Given the description of an element on the screen output the (x, y) to click on. 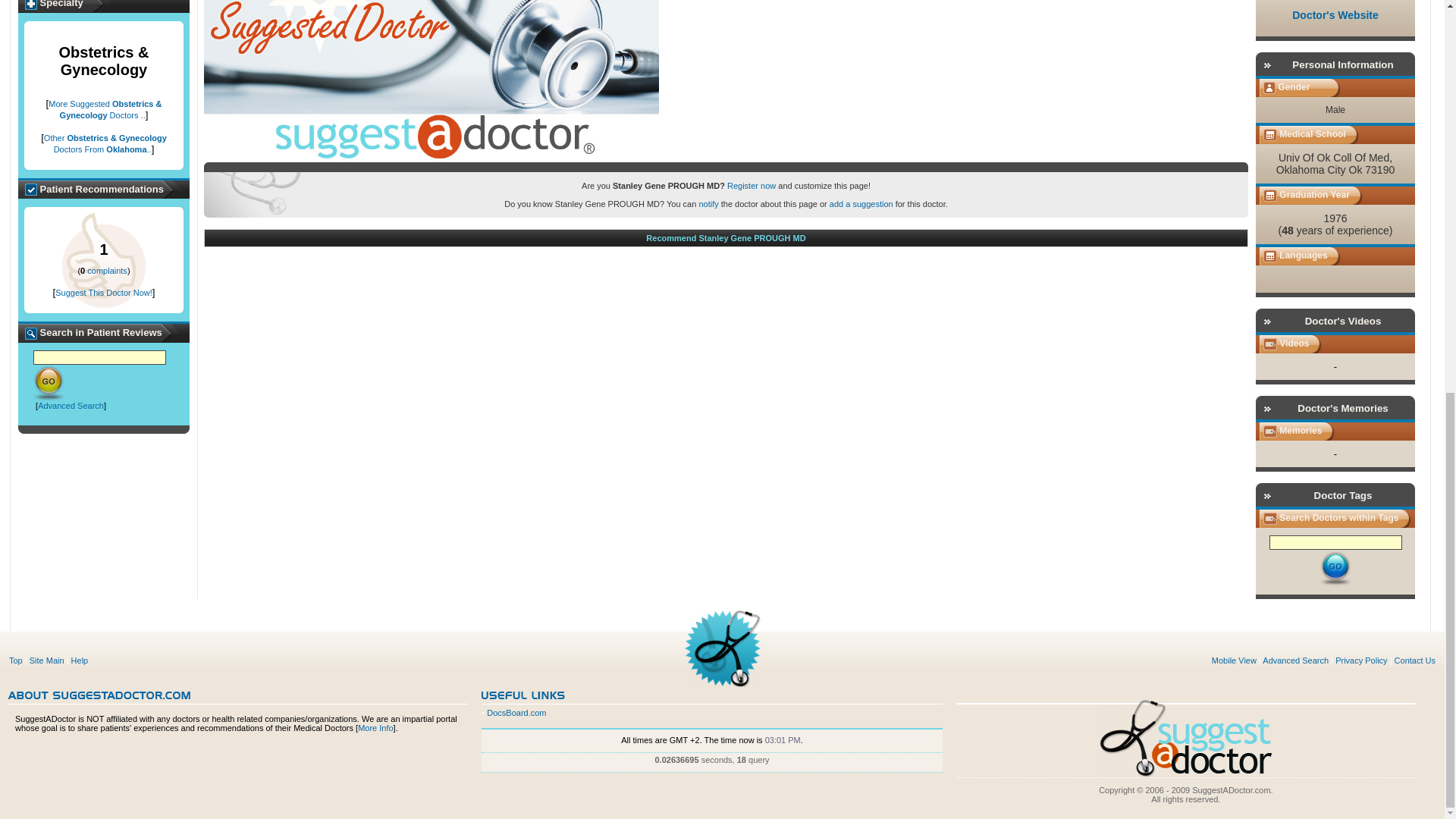
Recommend Stanley Gene PROUGH MD (725, 237)
Top (15, 660)
Register now (751, 185)
Mobile View (1233, 660)
Site Main (46, 660)
Advanced Search (70, 405)
add a suggestion (861, 203)
Suggest your favorite doctor at suggestadoctor.com (431, 81)
Search (49, 382)
about (98, 695)
Suggest This Doctor Now! (103, 292)
notify (707, 203)
suggest a doctor (1185, 738)
Doctor's Website (1335, 15)
complaints (107, 270)
